Given the description of an element on the screen output the (x, y) to click on. 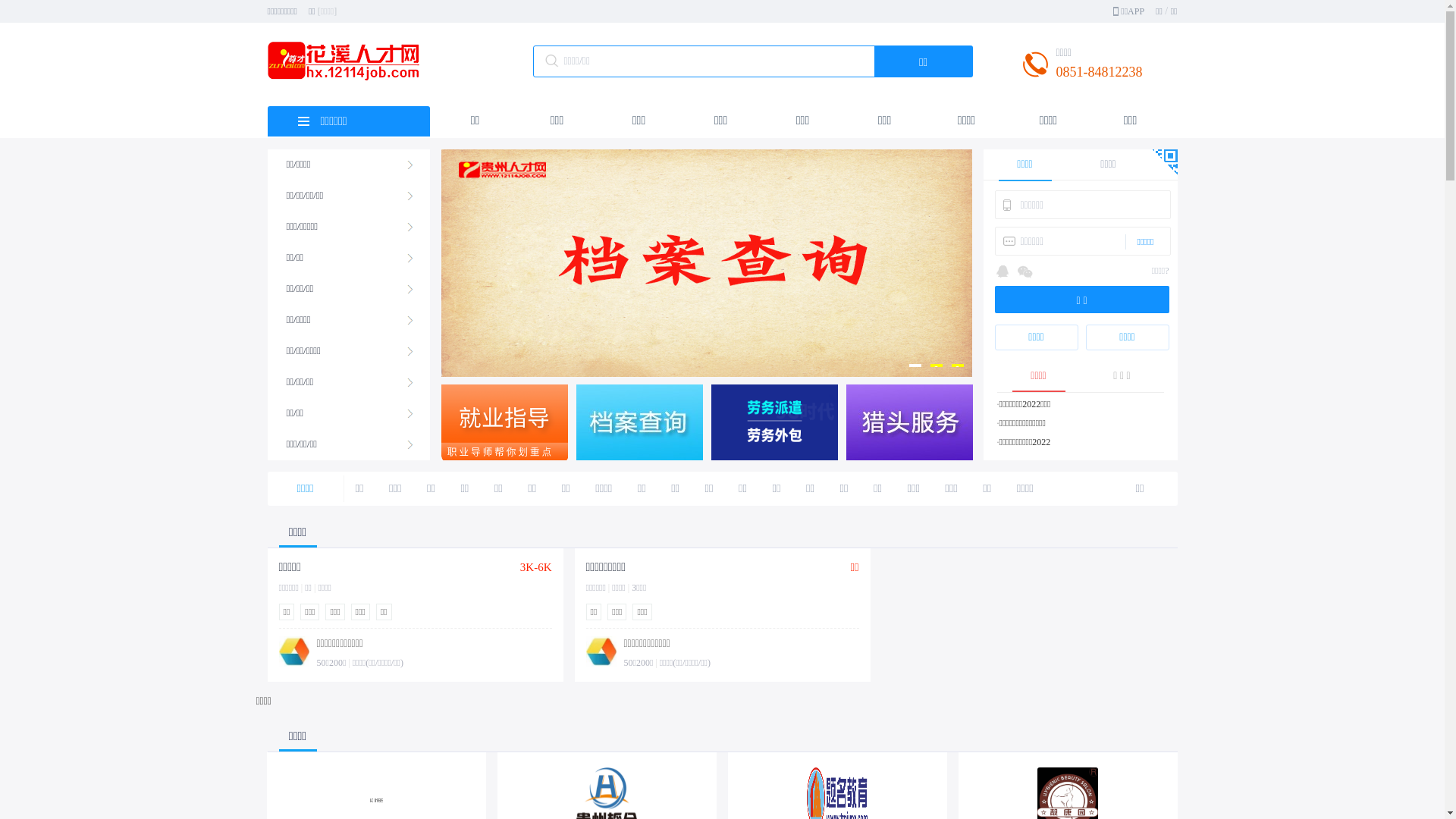
  Element type: text (1162, 157)
